Given the description of an element on the screen output the (x, y) to click on. 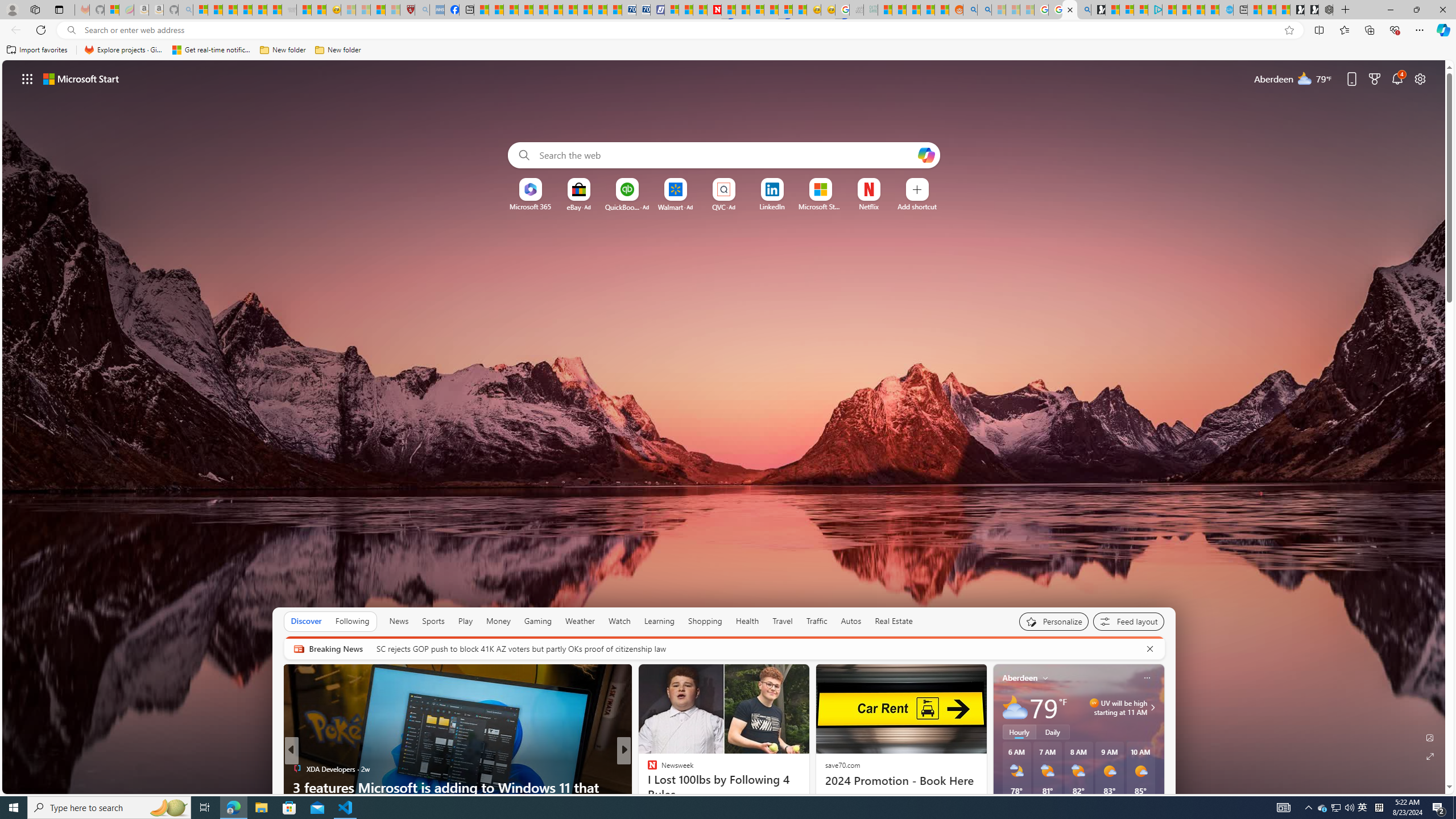
Cheap Car Rentals - Save70.com (628, 9)
Mostly cloudy (1014, 707)
Netflix (869, 206)
Newsweek - News, Analysis, Politics, Business, Technology (713, 9)
Home | Sky Blue Bikes - Sky Blue Bikes (1225, 9)
Money (497, 621)
Cancel (1150, 648)
